Given the description of an element on the screen output the (x, y) to click on. 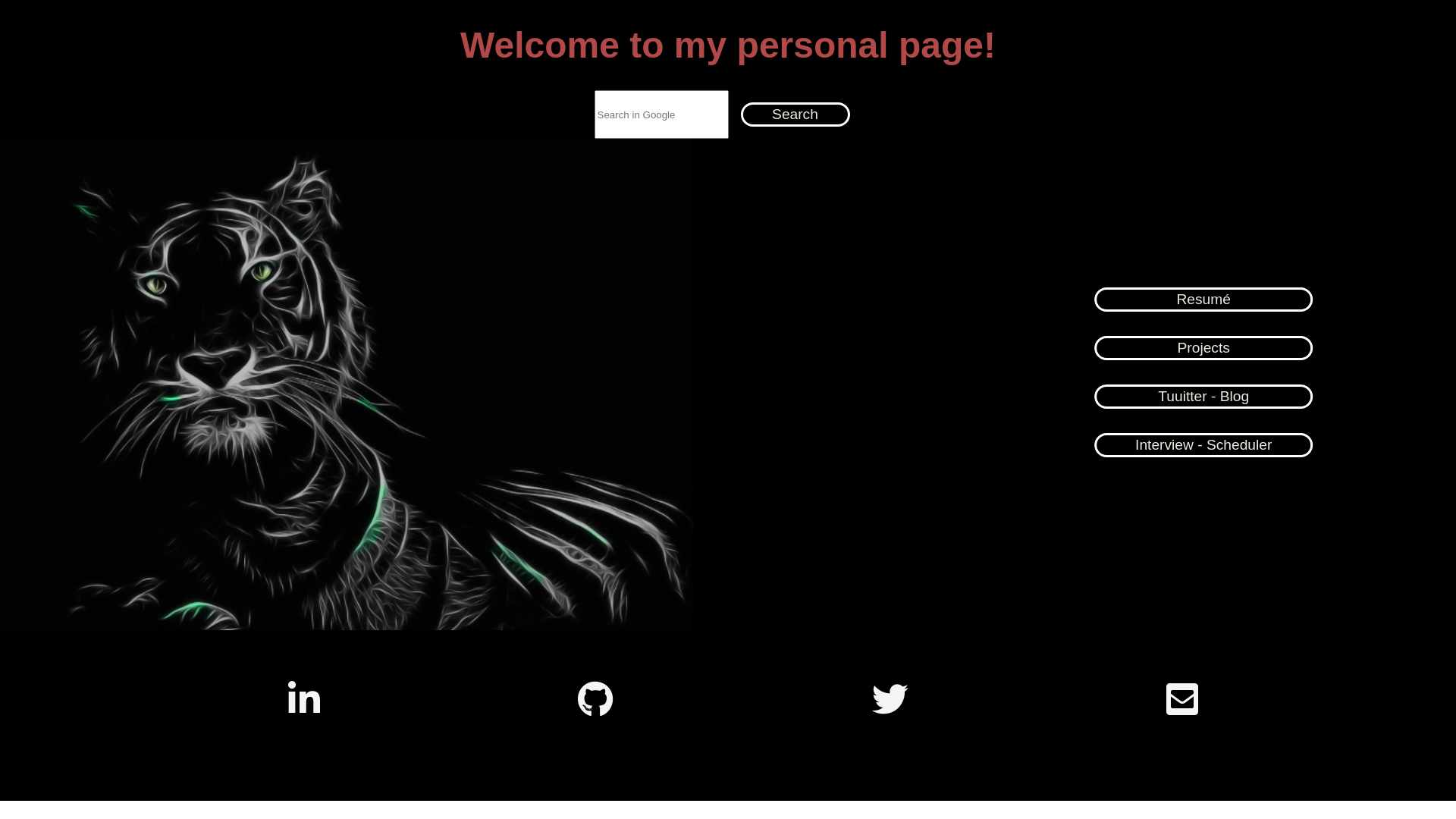
Tuuitter - Blog Element type: text (1203, 396)
Search Element type: text (794, 114)
Projects Element type: text (1203, 347)
Interview - Scheduler Element type: text (1203, 445)
